Given the description of an element on the screen output the (x, y) to click on. 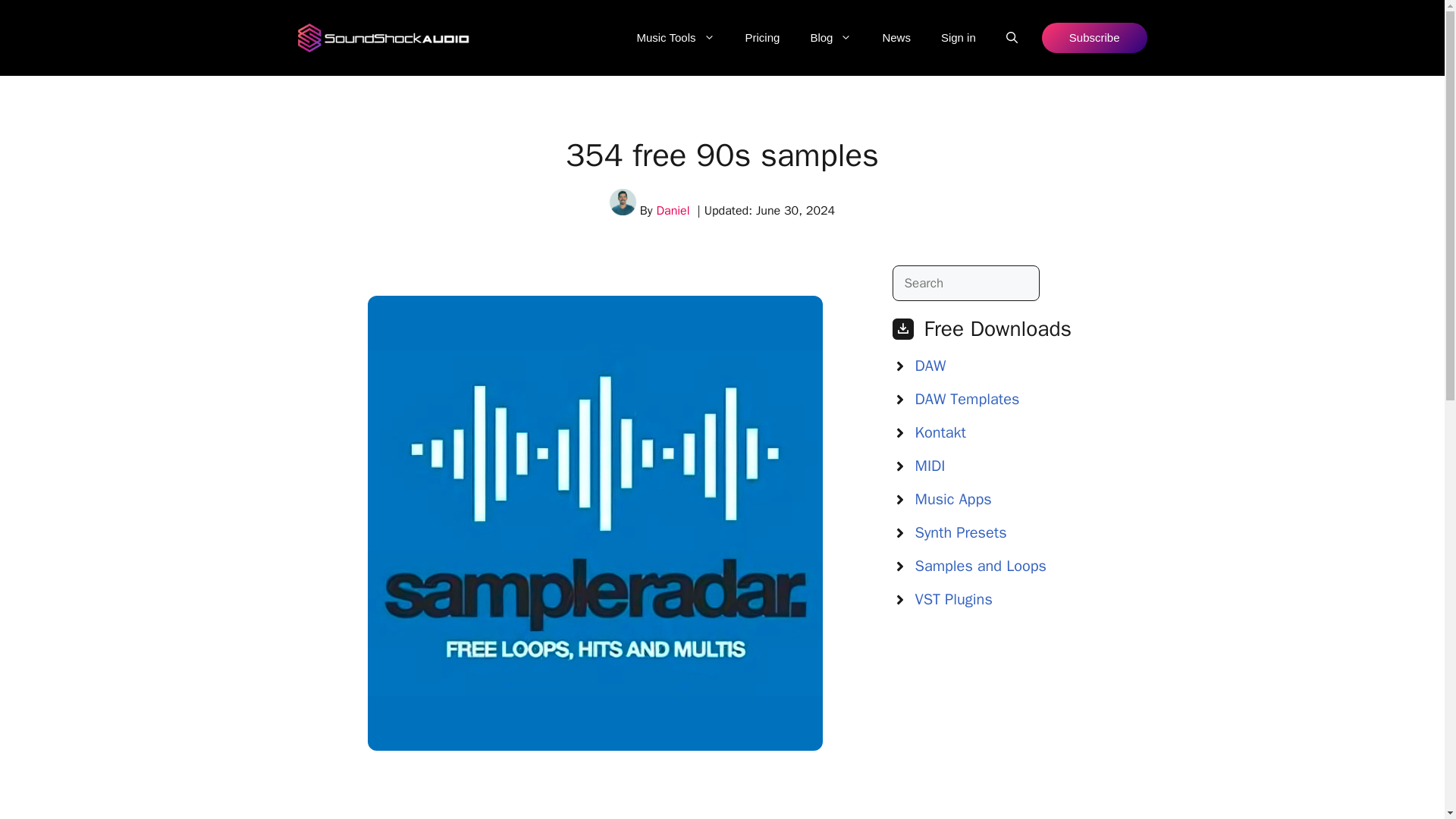
Music Tools (675, 37)
Daniel-Strongin-Author-founder-soundshockaudio (622, 202)
Sign in (958, 37)
Blog (830, 37)
News (896, 37)
Pricing (762, 37)
